Given the description of an element on the screen output the (x, y) to click on. 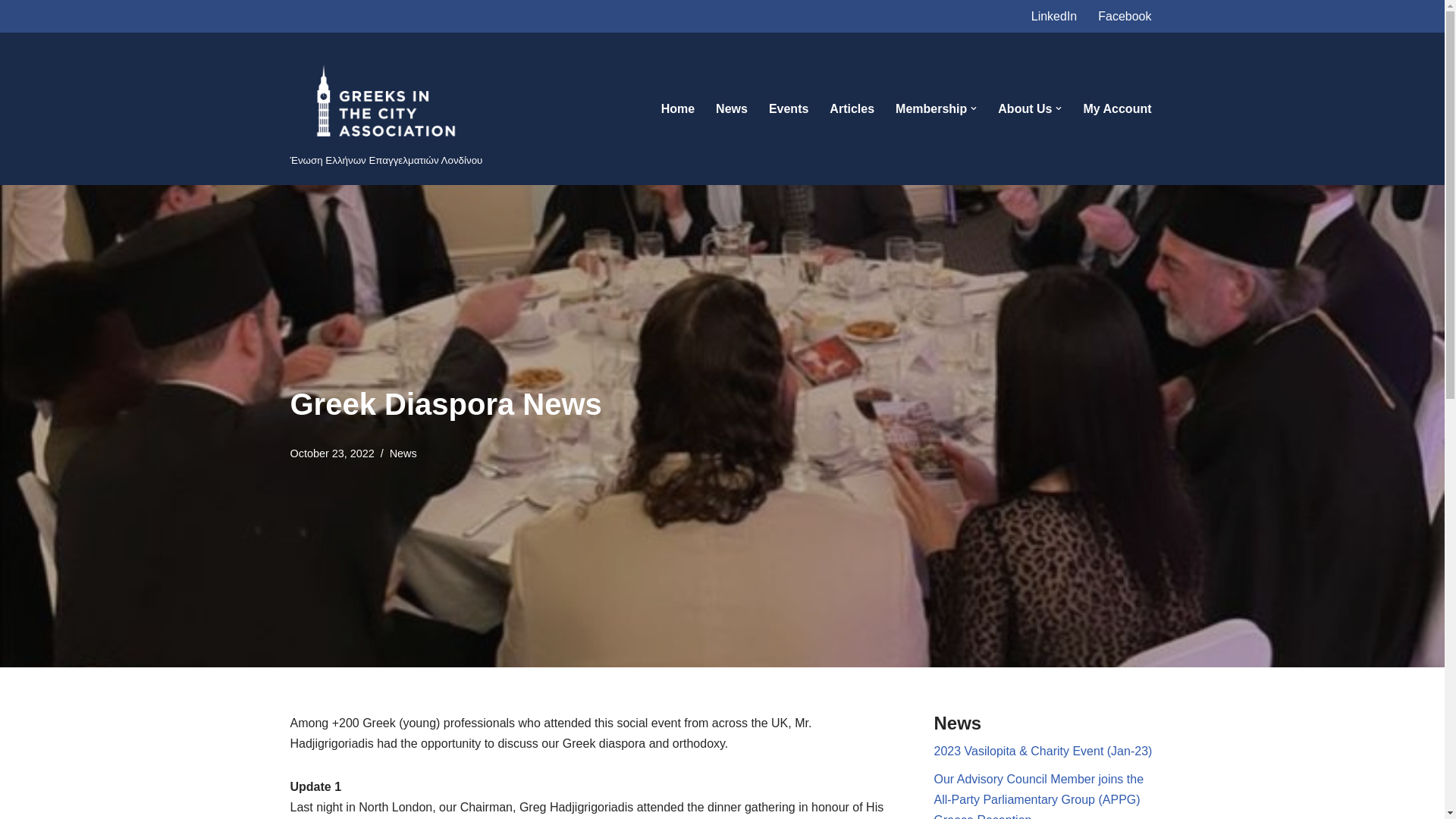
Skip to content (11, 31)
Membership (930, 108)
News (732, 108)
LinkedIn (1053, 15)
Articles (852, 108)
About Us (1024, 108)
My Account (1117, 108)
Events (788, 108)
Home (677, 108)
Facebook (1124, 15)
